Given the description of an element on the screen output the (x, y) to click on. 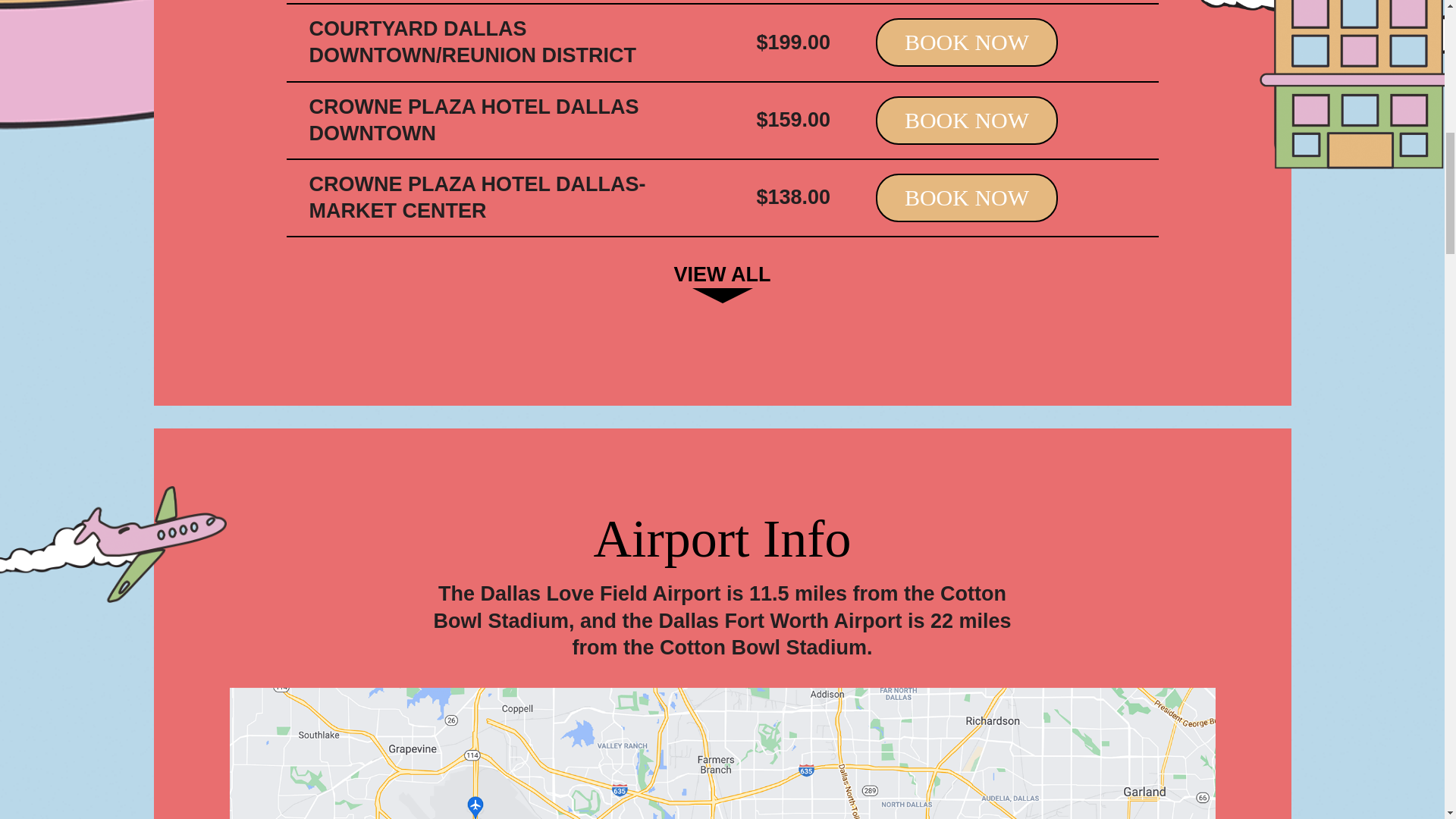
BOOK NOW (967, 120)
hotel (1327, 84)
BOOK NOW (967, 42)
map (721, 753)
plane (113, 544)
BOOK NOW (967, 197)
